Given the description of an element on the screen output the (x, y) to click on. 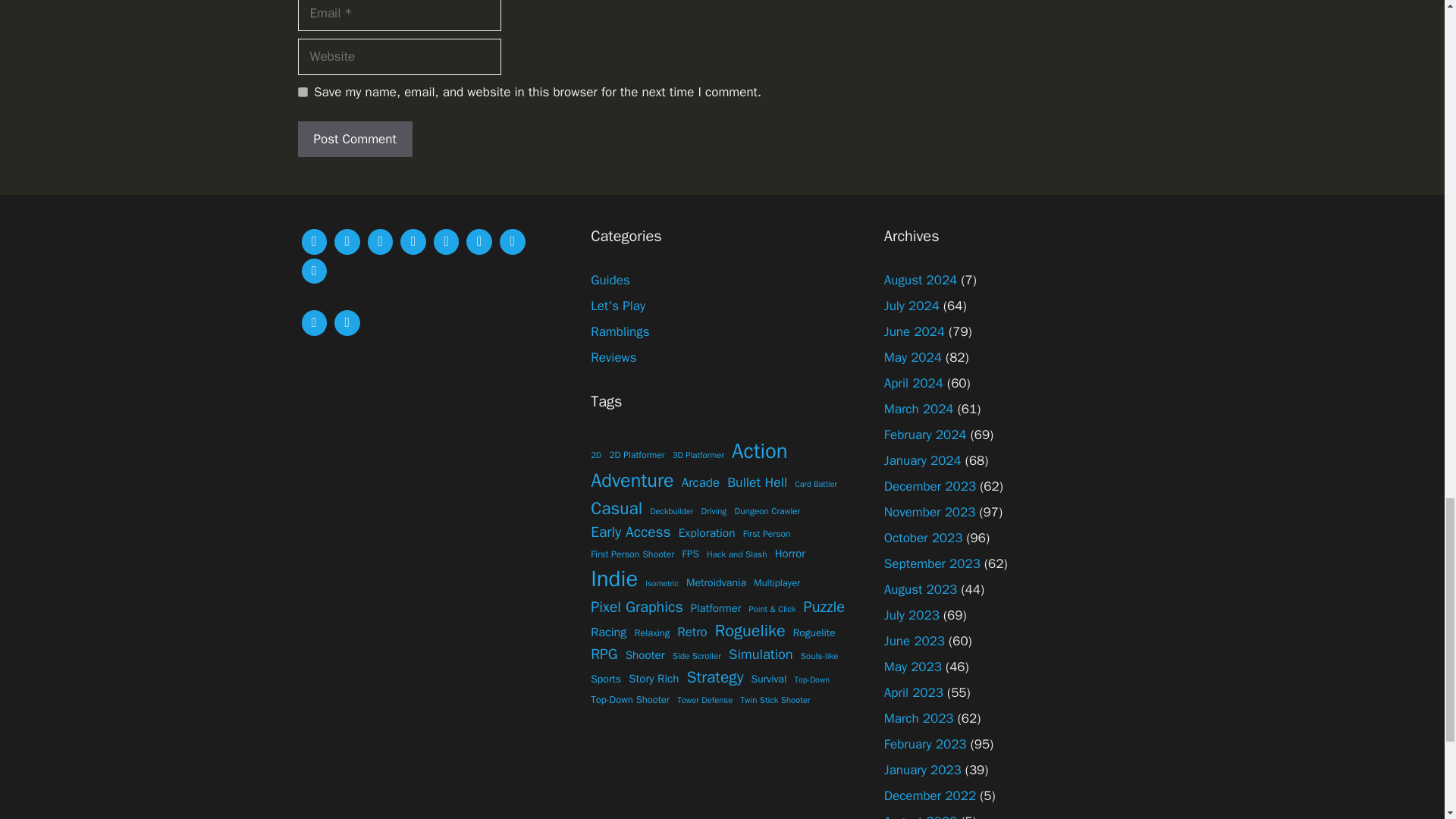
Post Comment (354, 139)
Post Comment (354, 139)
yes (302, 91)
